Given the description of an element on the screen output the (x, y) to click on. 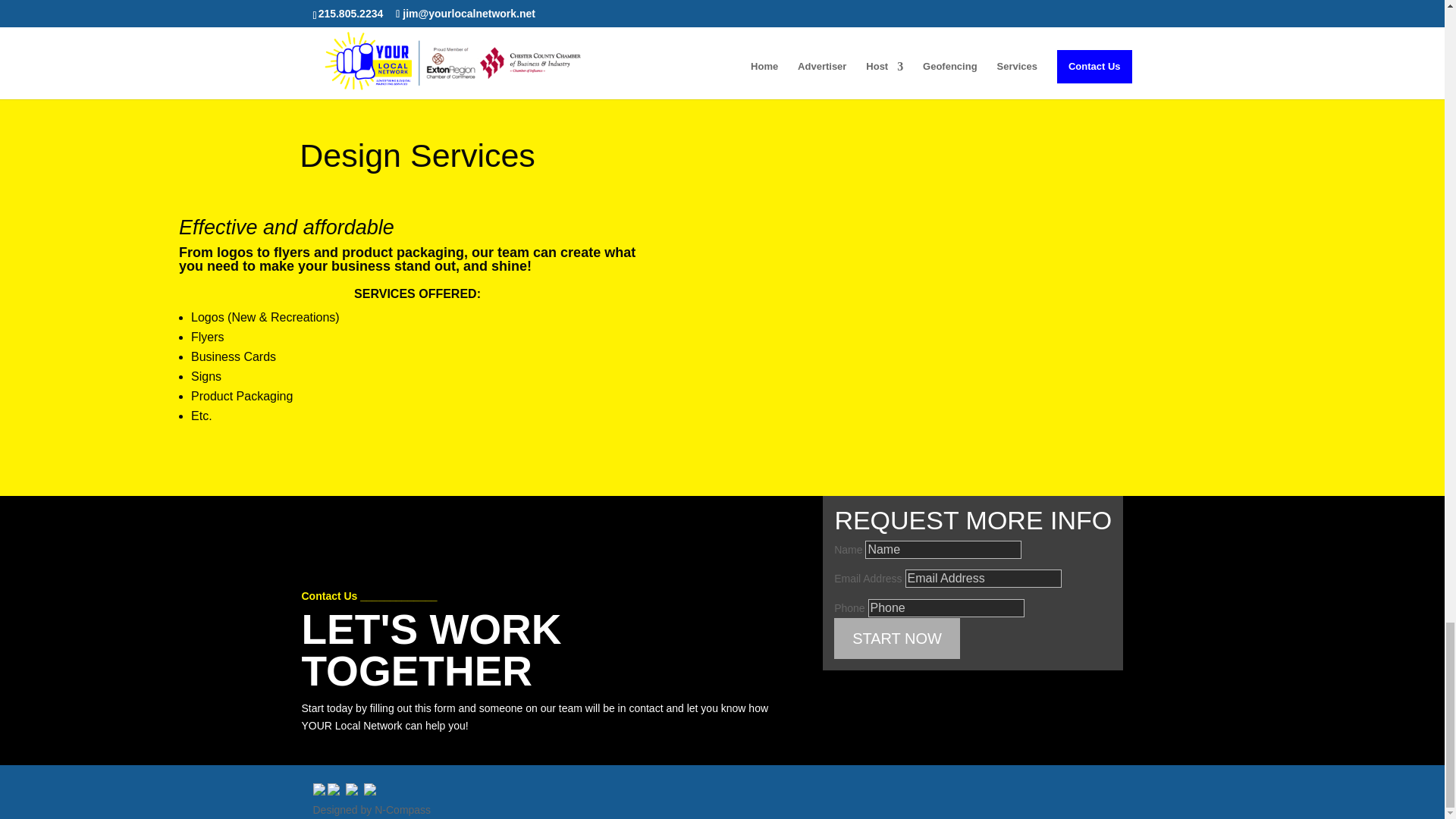
START NOW (896, 638)
